Given the description of an element on the screen output the (x, y) to click on. 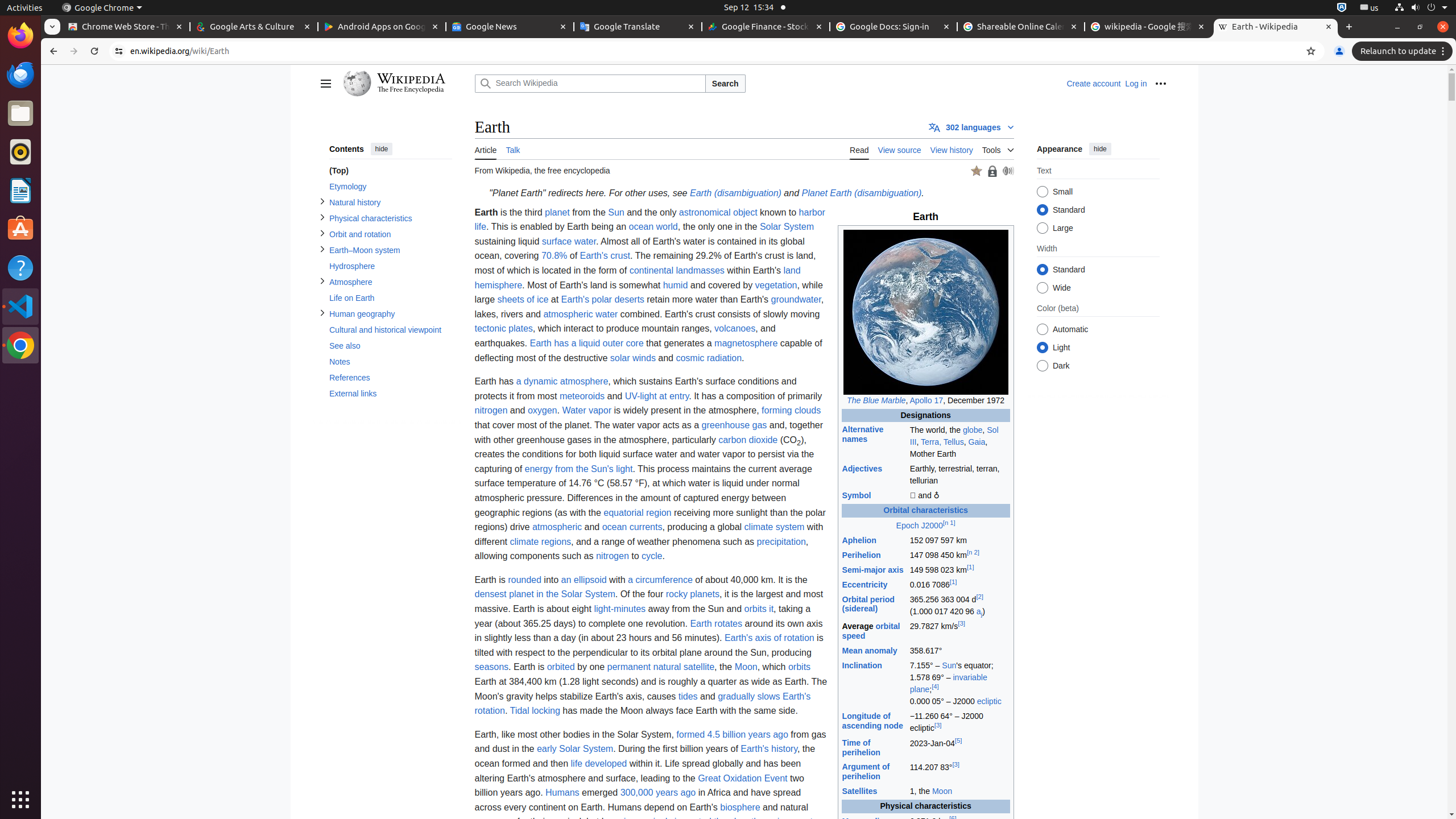
Alternative names Element type: link (862, 434)
Wide Element type: radio-button (1042, 288)
Toggle Human geography subsection Element type: push-button (321, 312)
[1] Element type: link (970, 567)
[2] Element type: link (979, 596)
